Given the description of an element on the screen output the (x, y) to click on. 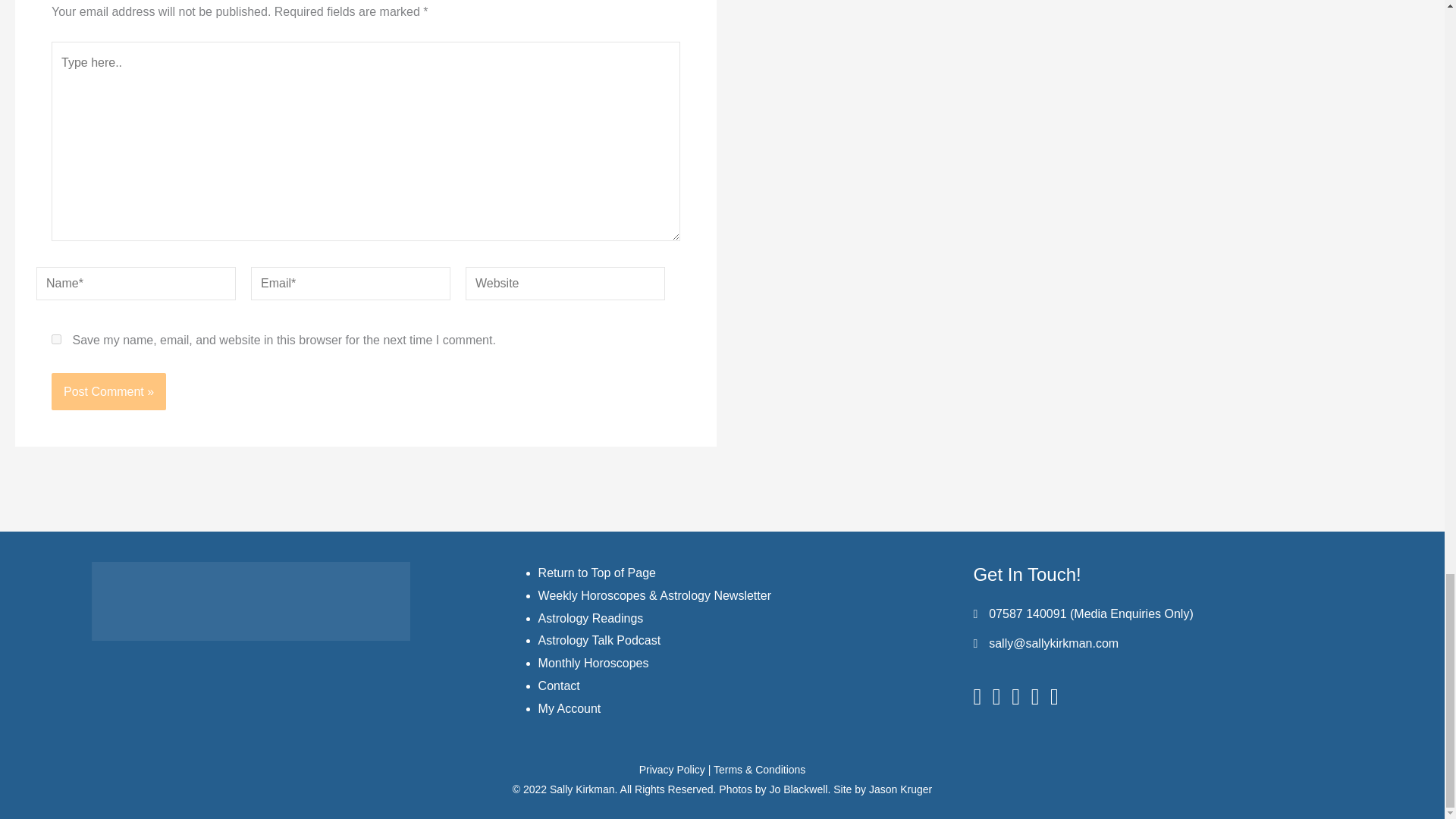
yes (55, 338)
SALLY KIRKMAN ASTROLOGER WHITE (250, 600)
